Given the description of an element on the screen output the (x, y) to click on. 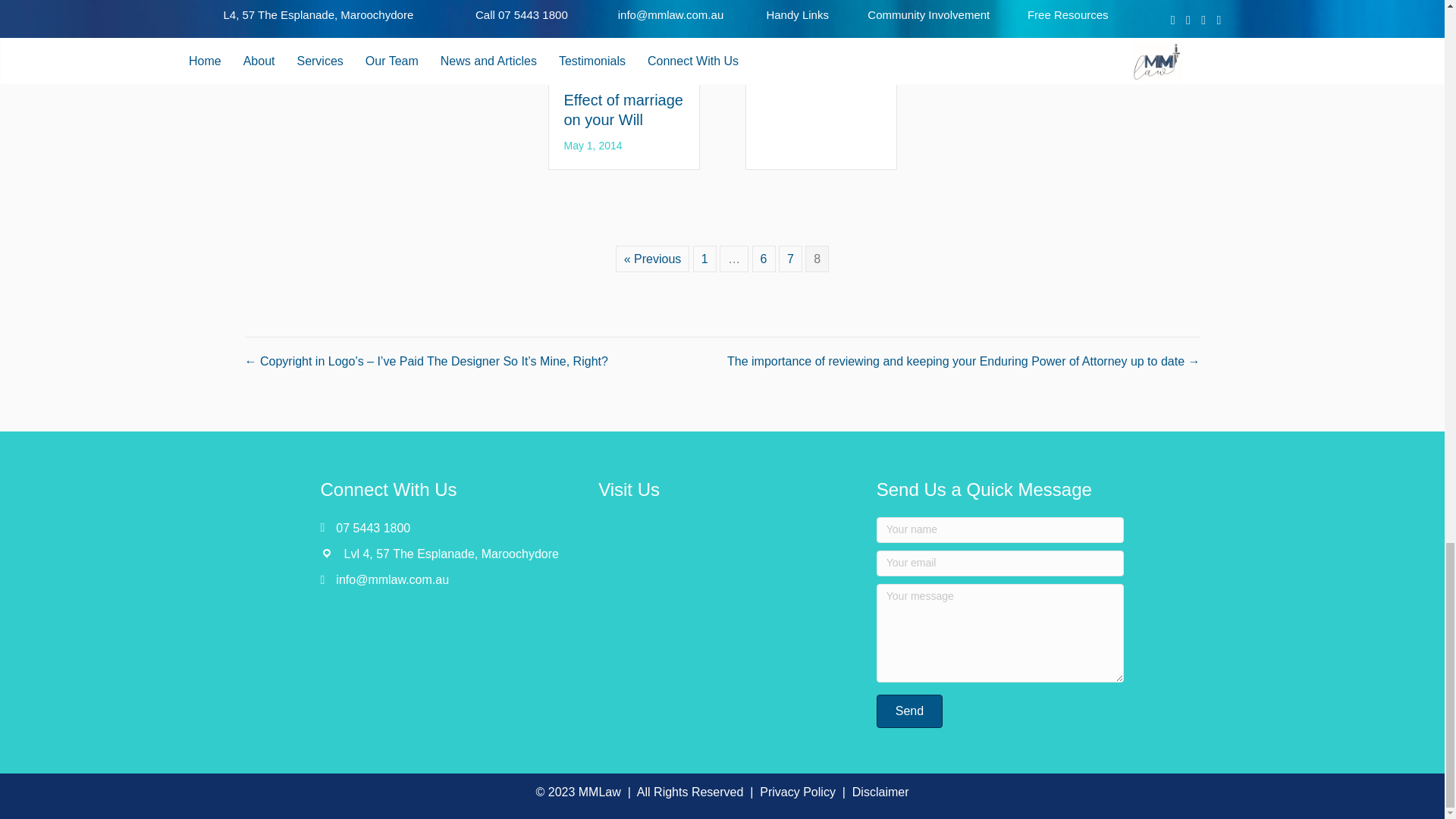
Effect of marriage on your Will (623, 2)
Effect of marriage on your Will (623, 109)
